Given the description of an element on the screen output the (x, y) to click on. 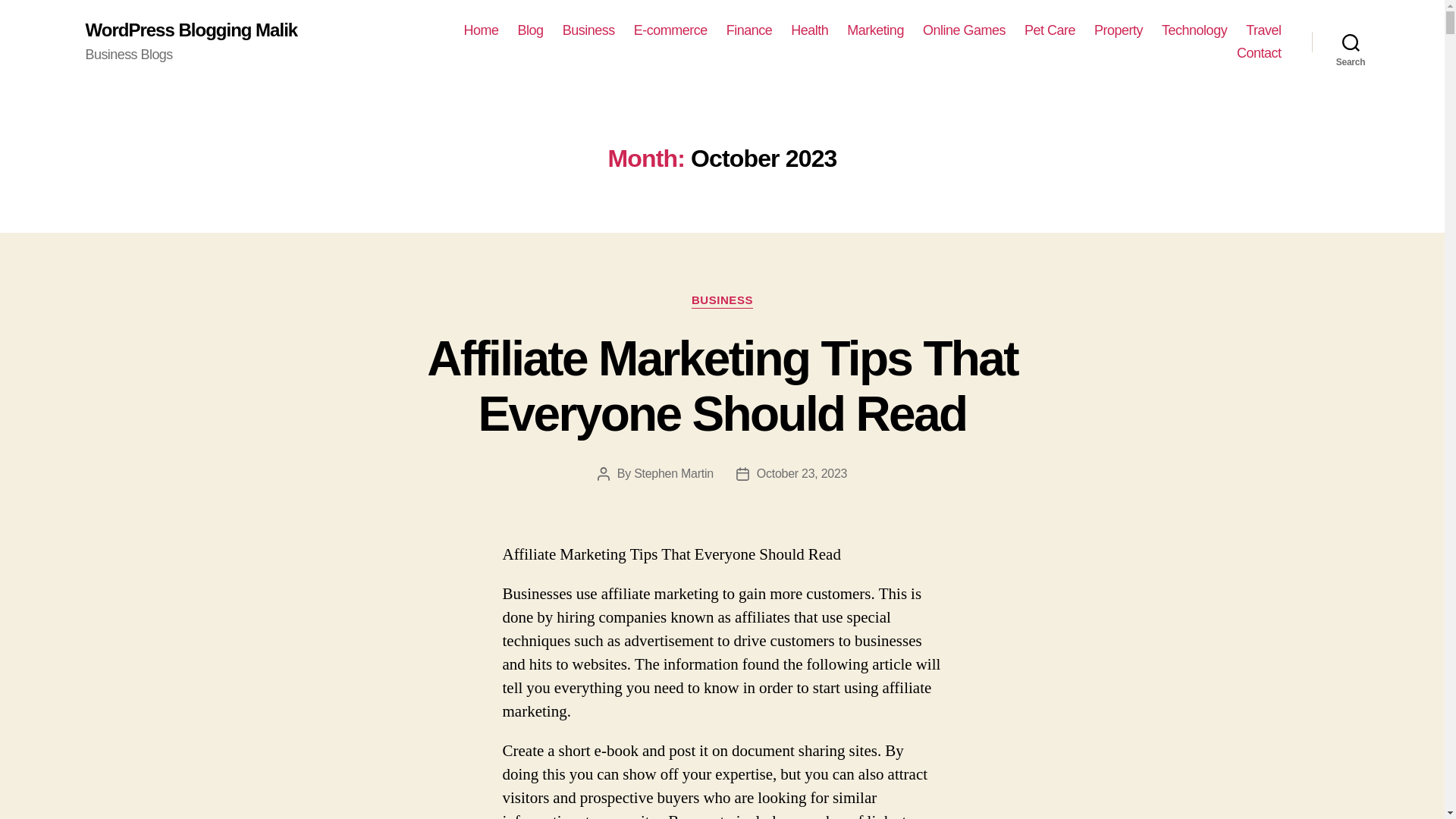
WordPress Blogging Malik (190, 30)
Health (809, 30)
Pet Care (1050, 30)
Contact (1258, 53)
Home (481, 30)
Affiliate Marketing Tips That Everyone Should Read (721, 386)
BUSINESS (721, 300)
Property (1118, 30)
Blog (530, 30)
Online Games (964, 30)
Marketing (875, 30)
Travel (1263, 30)
Stephen Martin (673, 472)
Finance (749, 30)
E-commerce (670, 30)
